Given the description of an element on the screen output the (x, y) to click on. 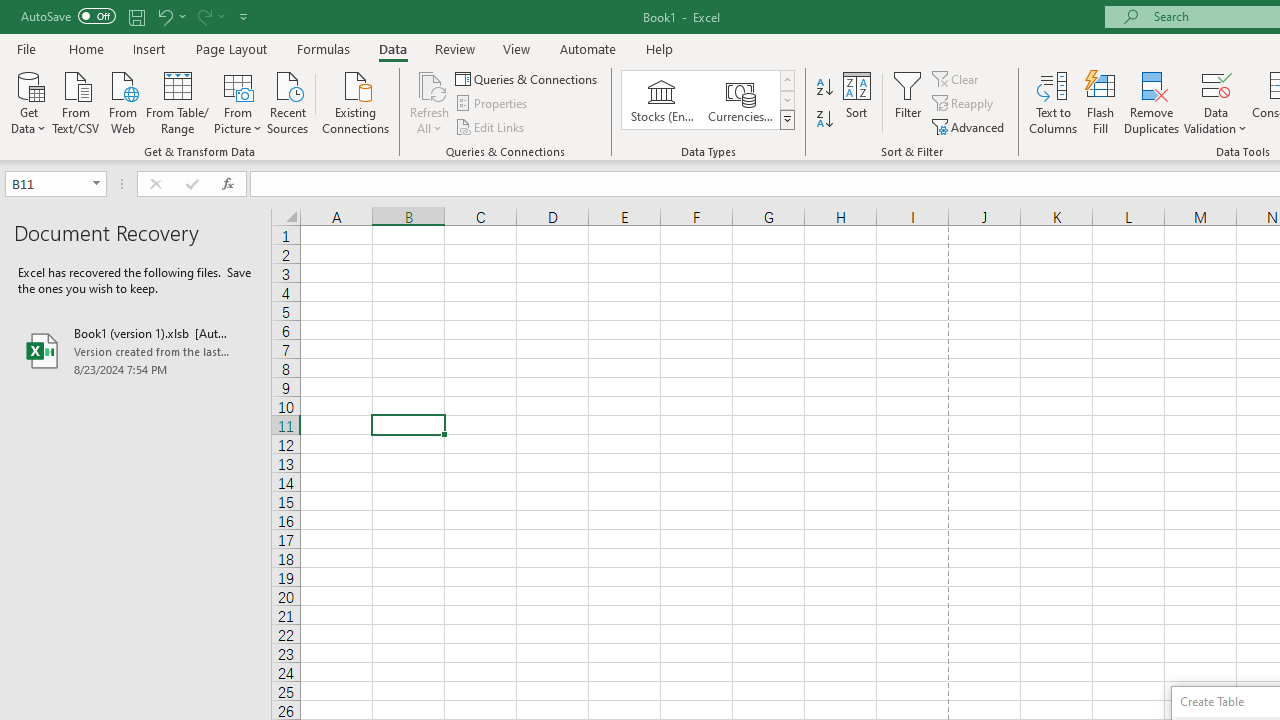
From Picture (238, 101)
Edit Links (491, 126)
Properties (492, 103)
